Given the description of an element on the screen output the (x, y) to click on. 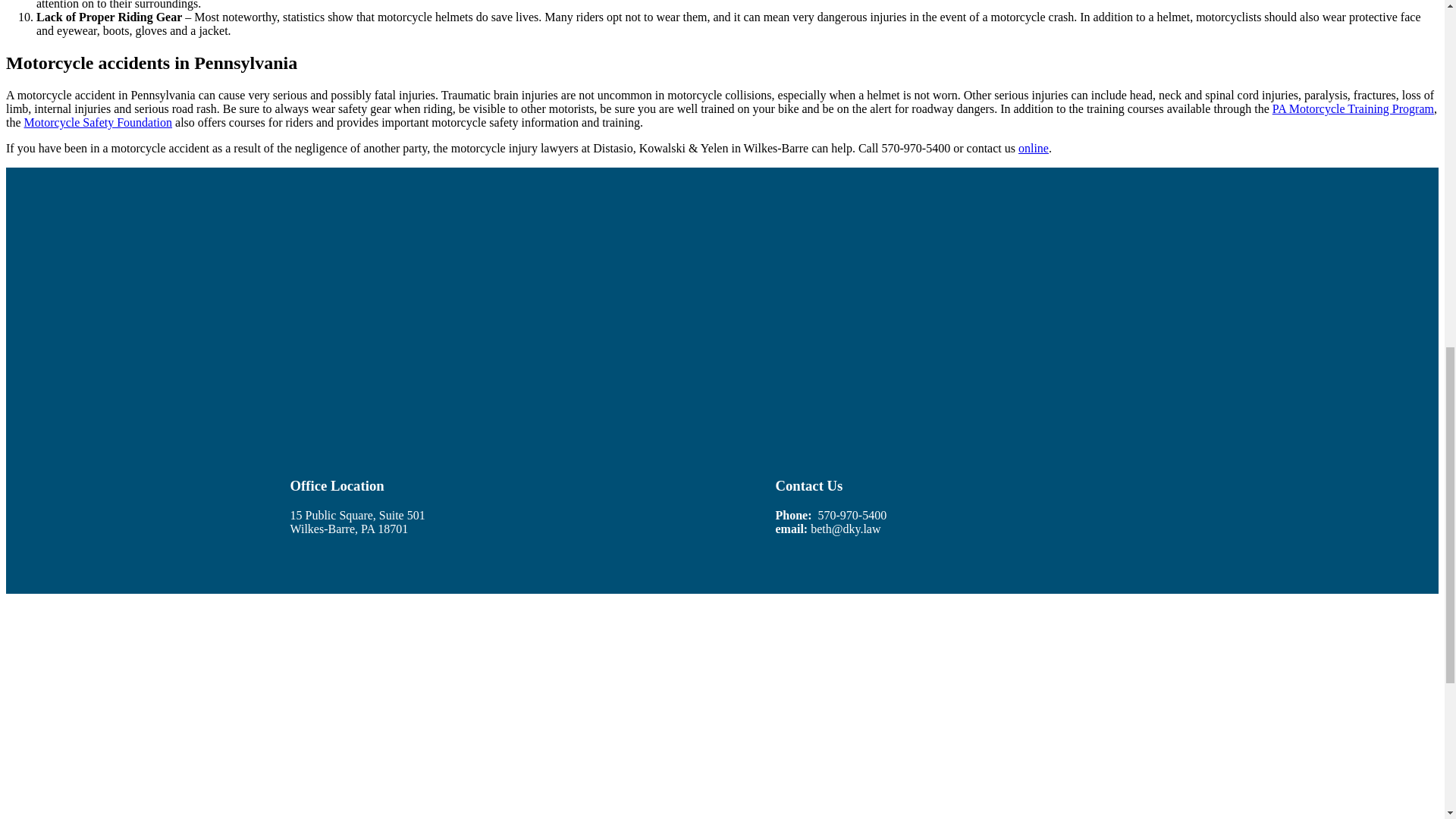
Year.png (1110, 712)
Multi-Million-Dollar-Advocates-Forum (333, 712)
